Given the description of an element on the screen output the (x, y) to click on. 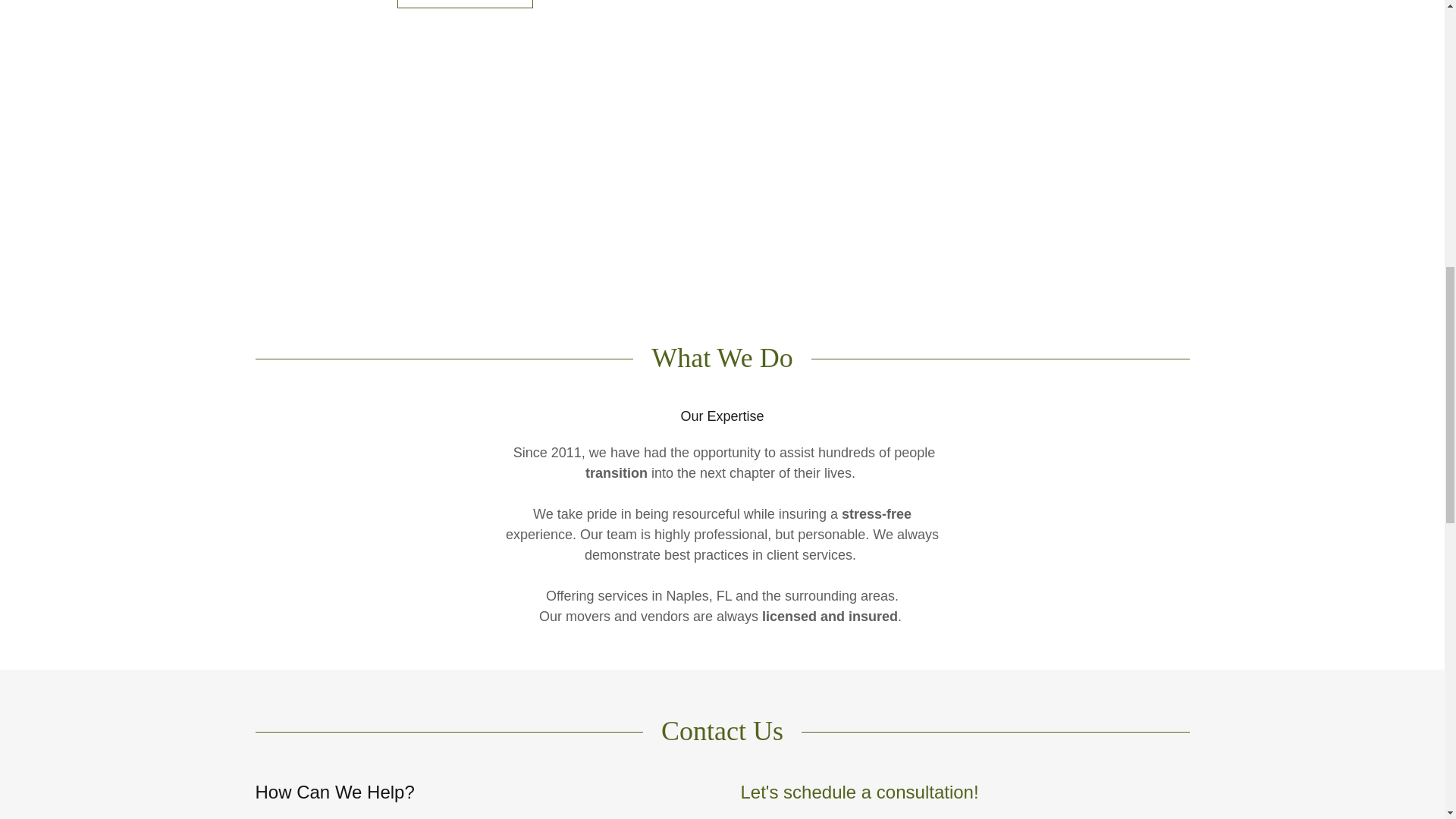
CALL TODAY (464, 4)
ACCEPT (1274, 324)
